Given the description of an element on the screen output the (x, y) to click on. 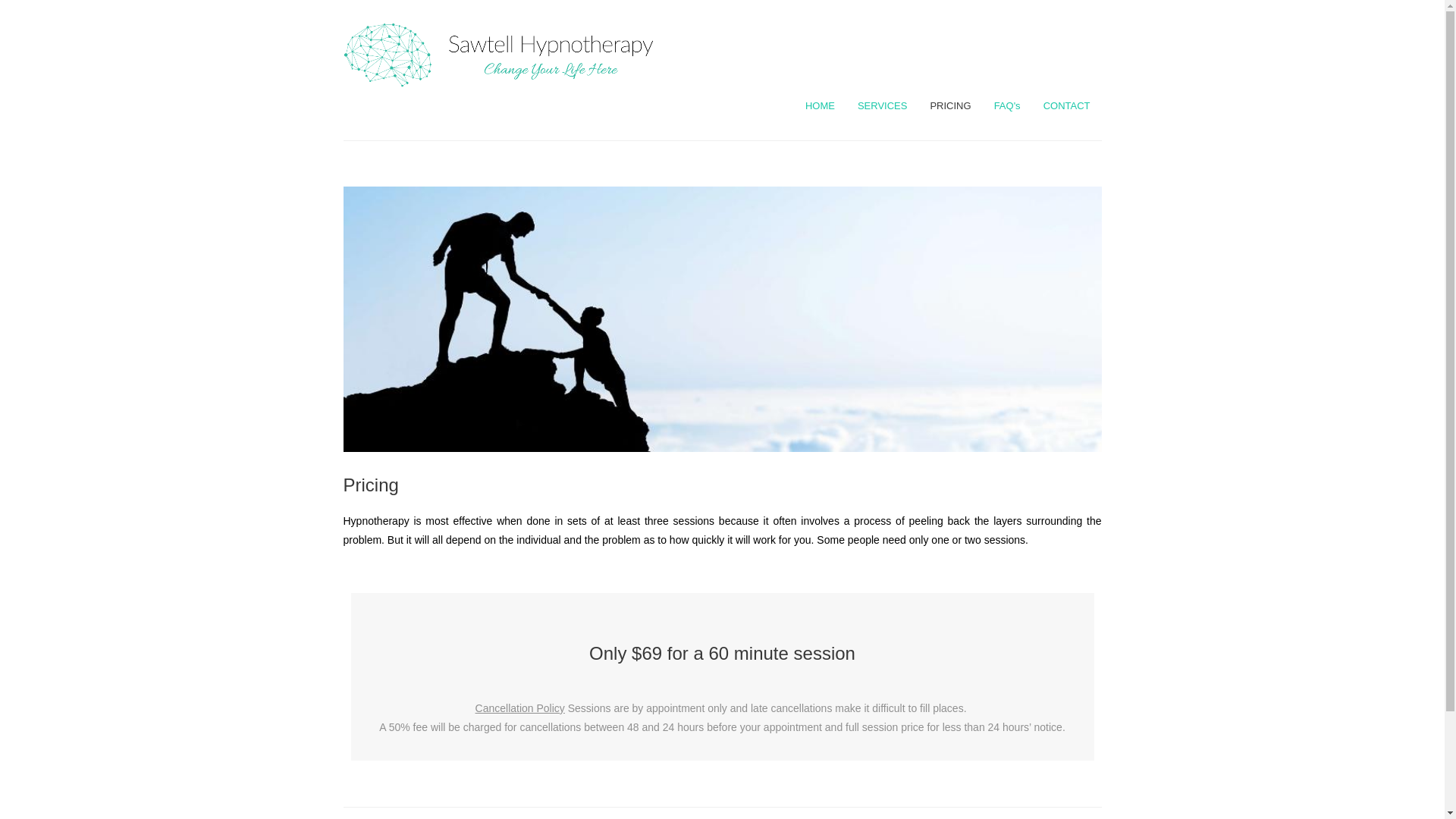
PRICING (949, 105)
HOME (819, 105)
FAQ'S (1007, 105)
SERVICES (881, 105)
CONTACT (1067, 105)
